Given the description of an element on the screen output the (x, y) to click on. 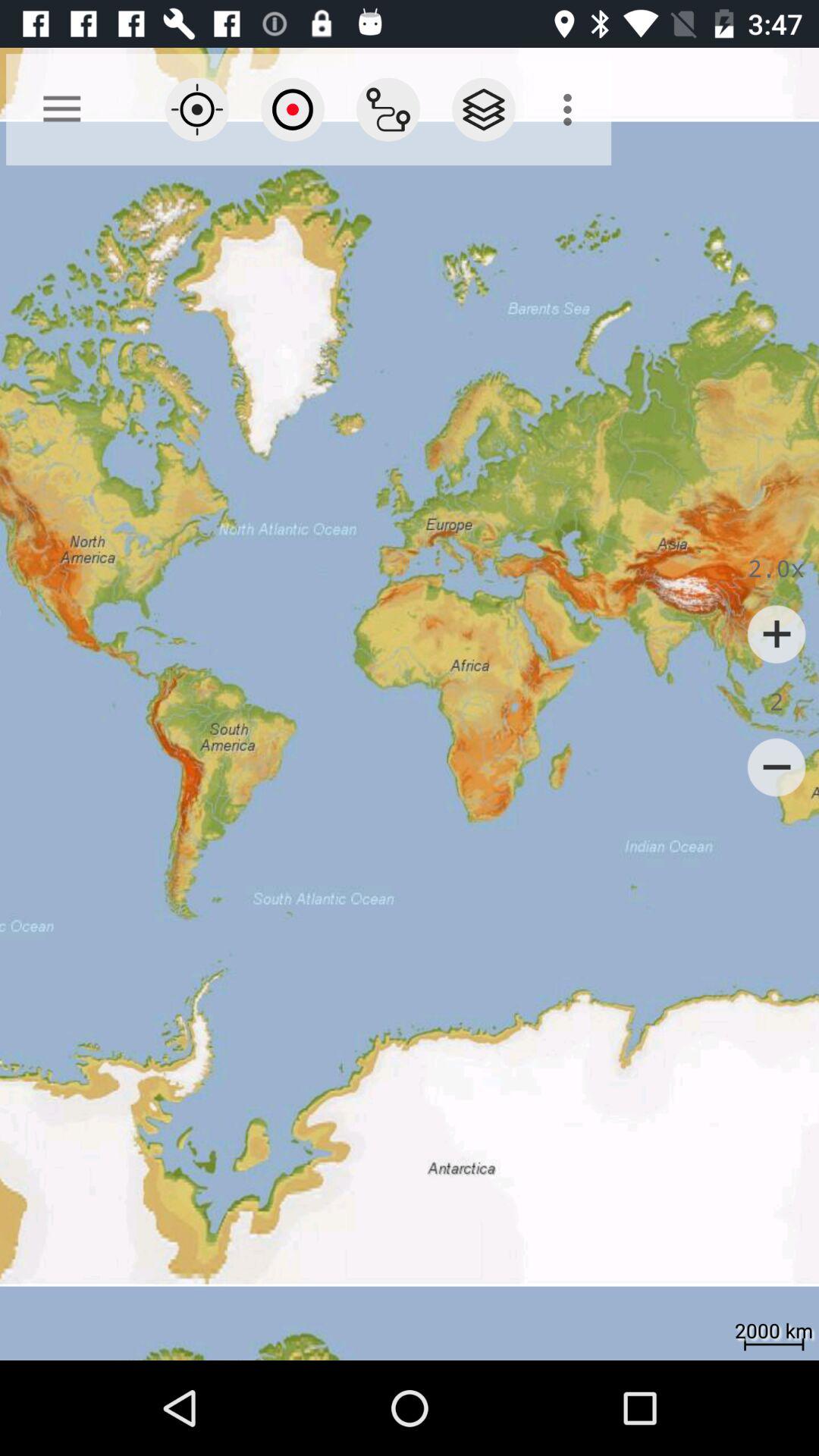
tap the icon at the top right corner (571, 109)
